Given the description of an element on the screen output the (x, y) to click on. 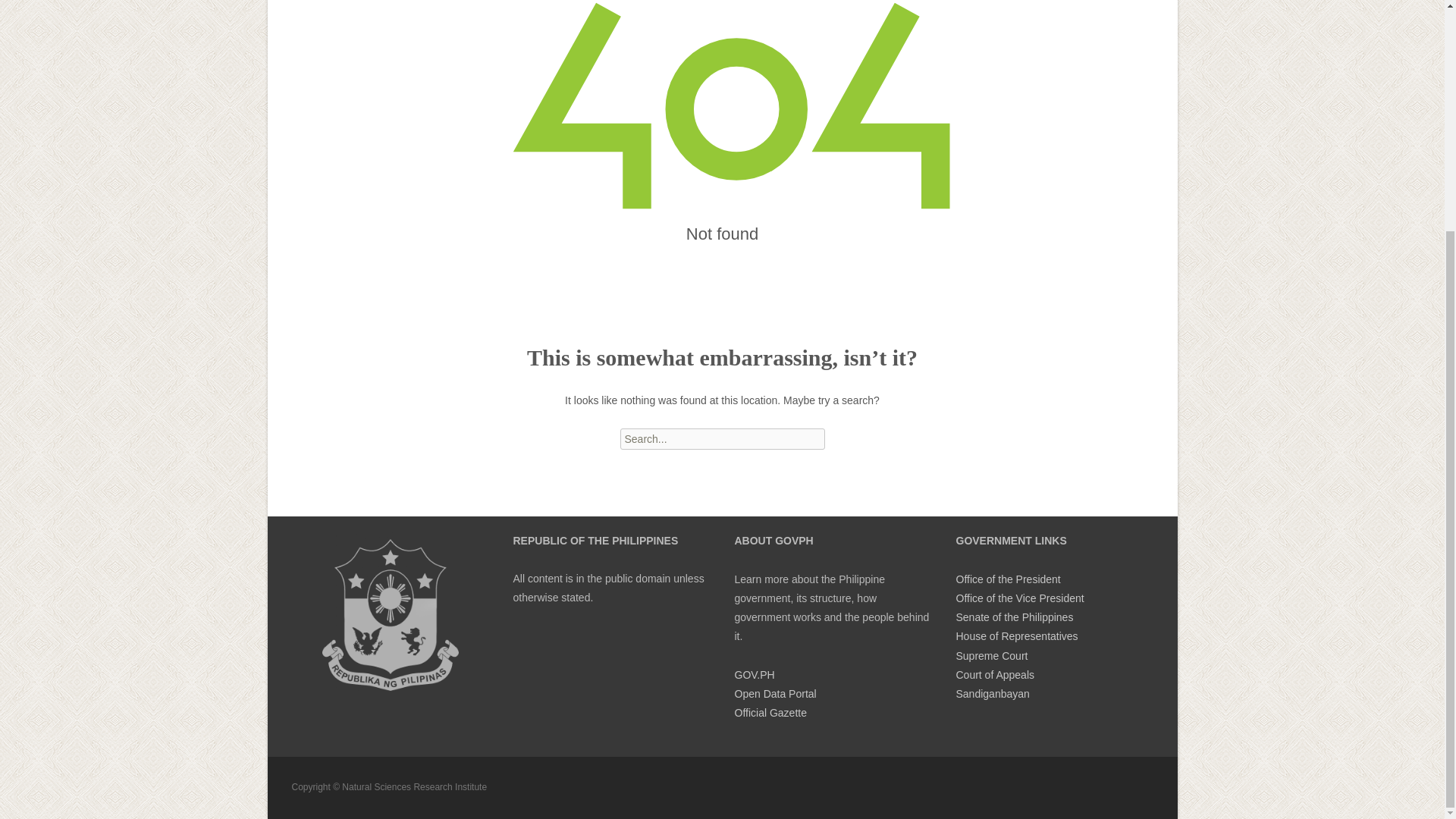
Search for: (722, 438)
Open Data Portal (774, 693)
Sandiganbayan (992, 693)
Office of the President (1007, 579)
Official Gazette (769, 712)
House of Representatives (1016, 635)
Office of the Vice President (1019, 598)
GOV.PH (753, 674)
Court of Appeals (994, 674)
Senate of the Philippines (1014, 616)
